Given the description of an element on the screen output the (x, y) to click on. 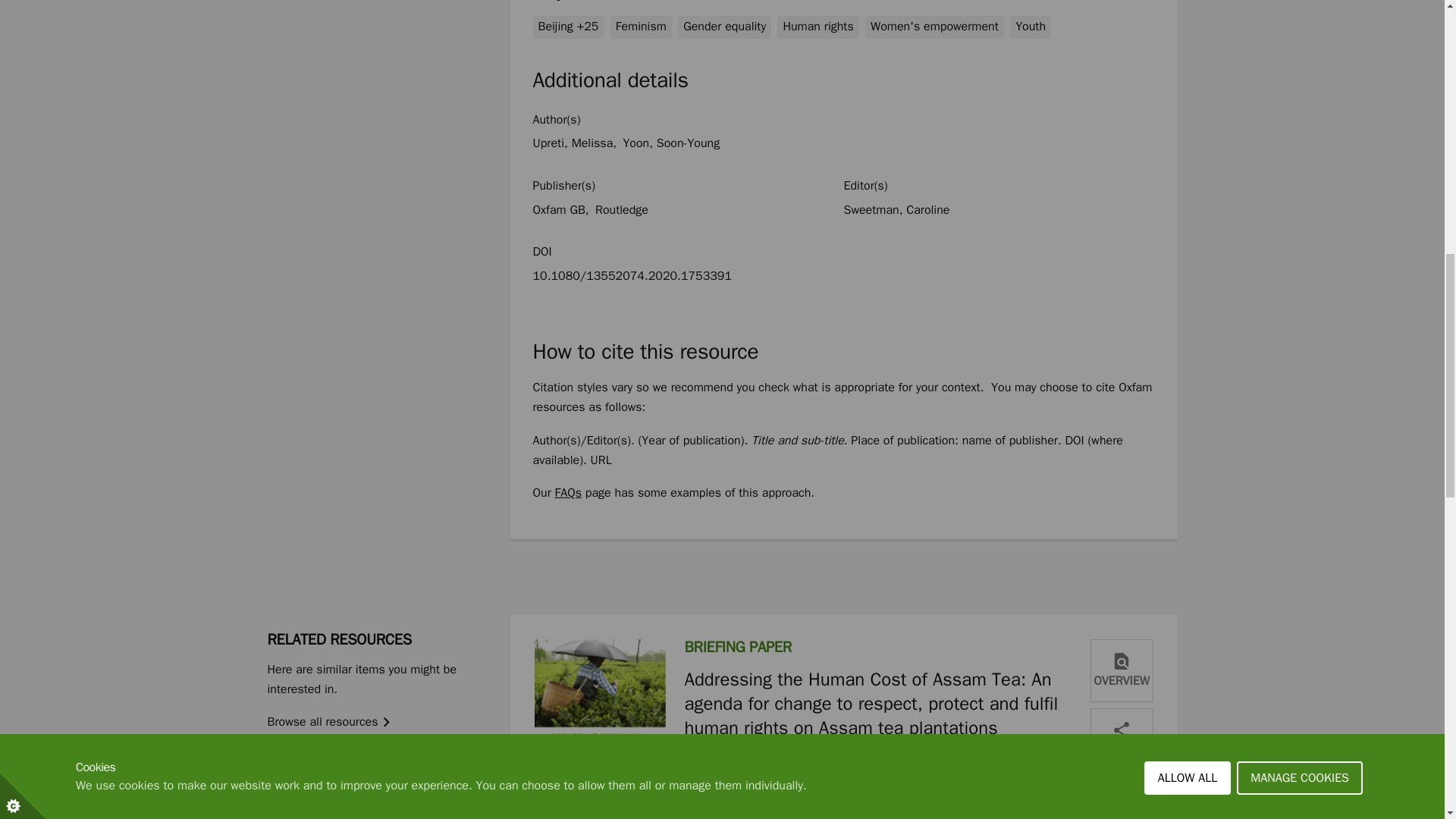
MANAGE COOKIES (1299, 5)
ALLOW ALL (1187, 12)
